Given the description of an element on the screen output the (x, y) to click on. 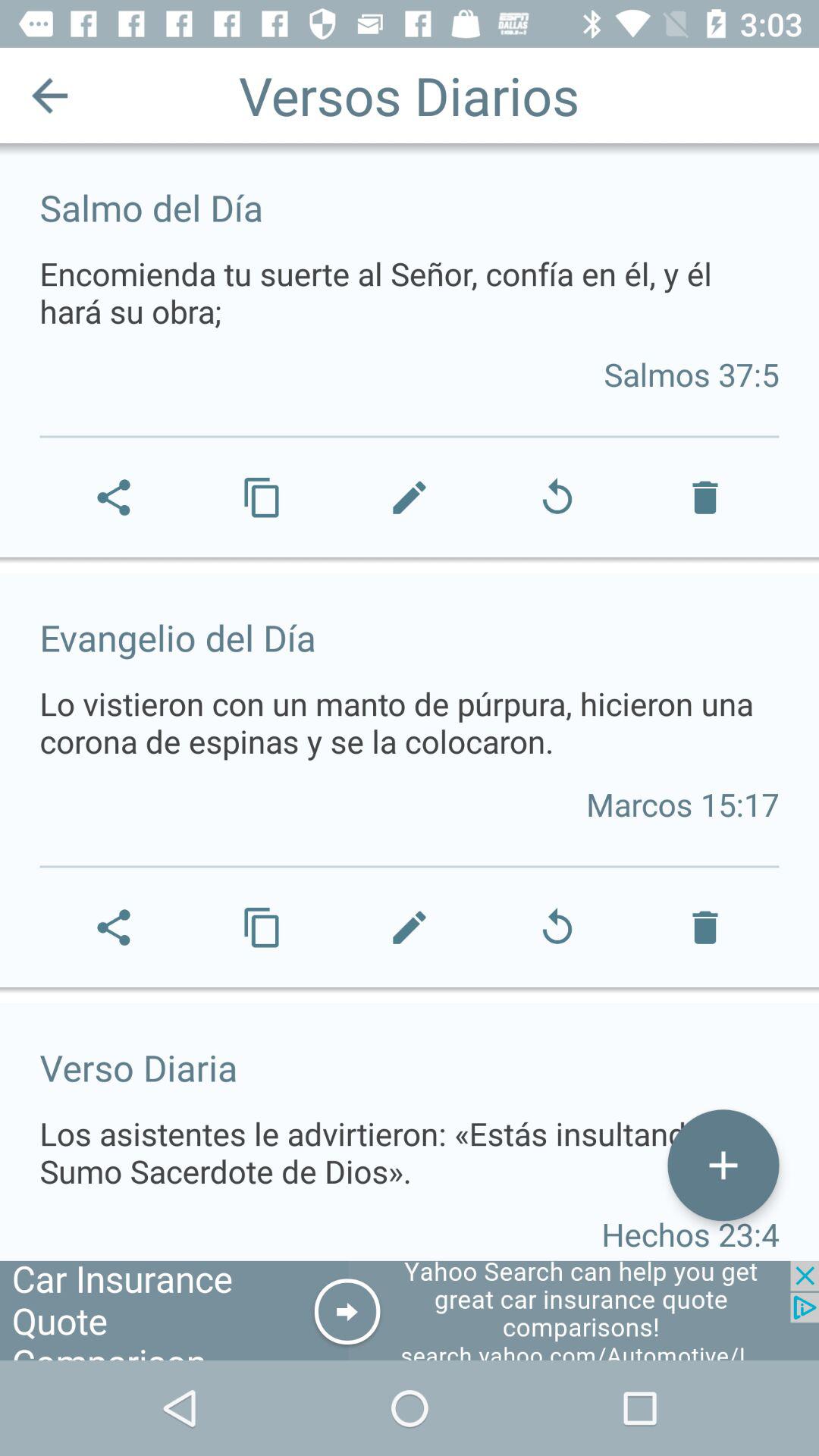
go back (49, 95)
